Given the description of an element on the screen output the (x, y) to click on. 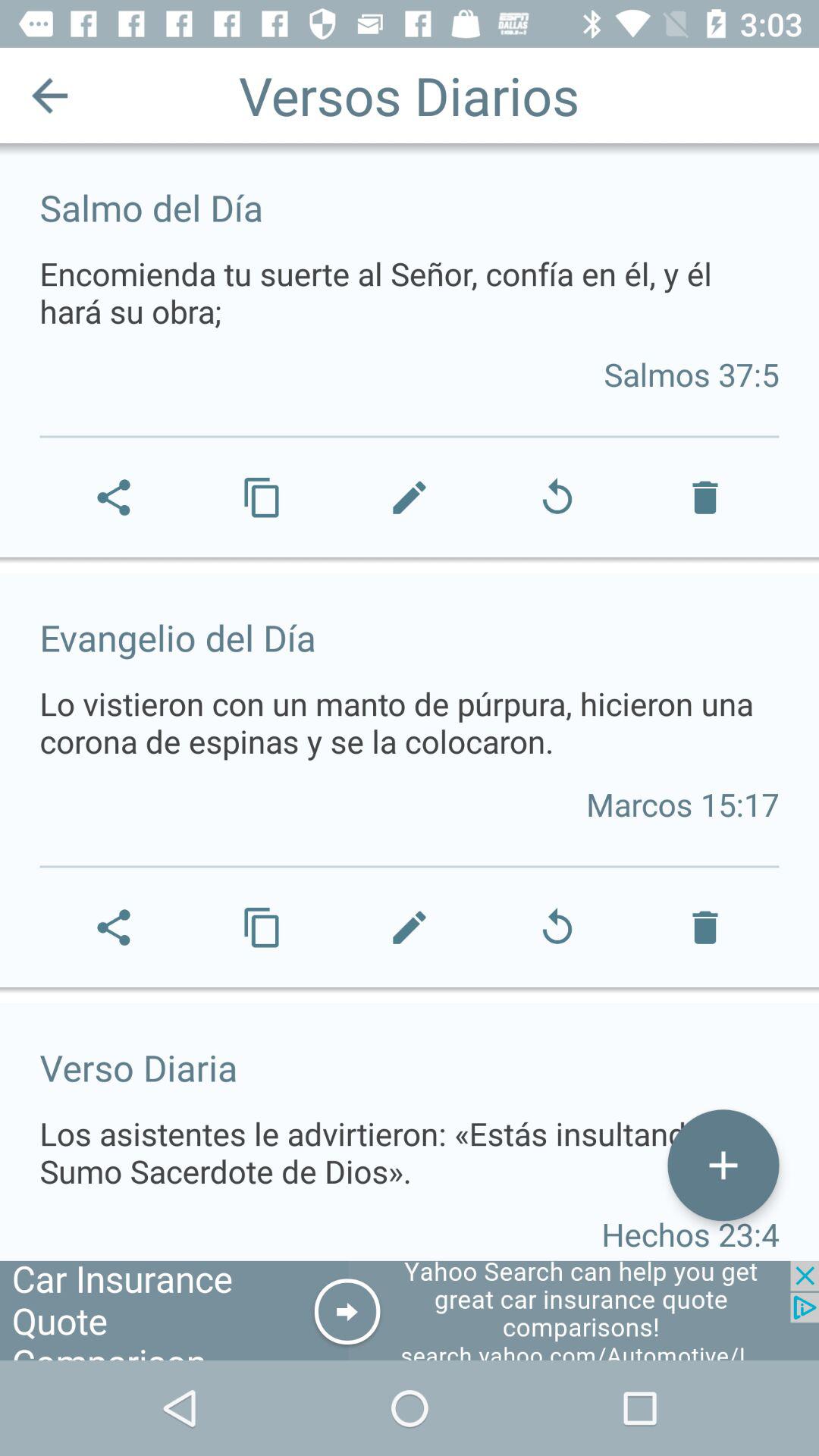
go back (49, 95)
